Given the description of an element on the screen output the (x, y) to click on. 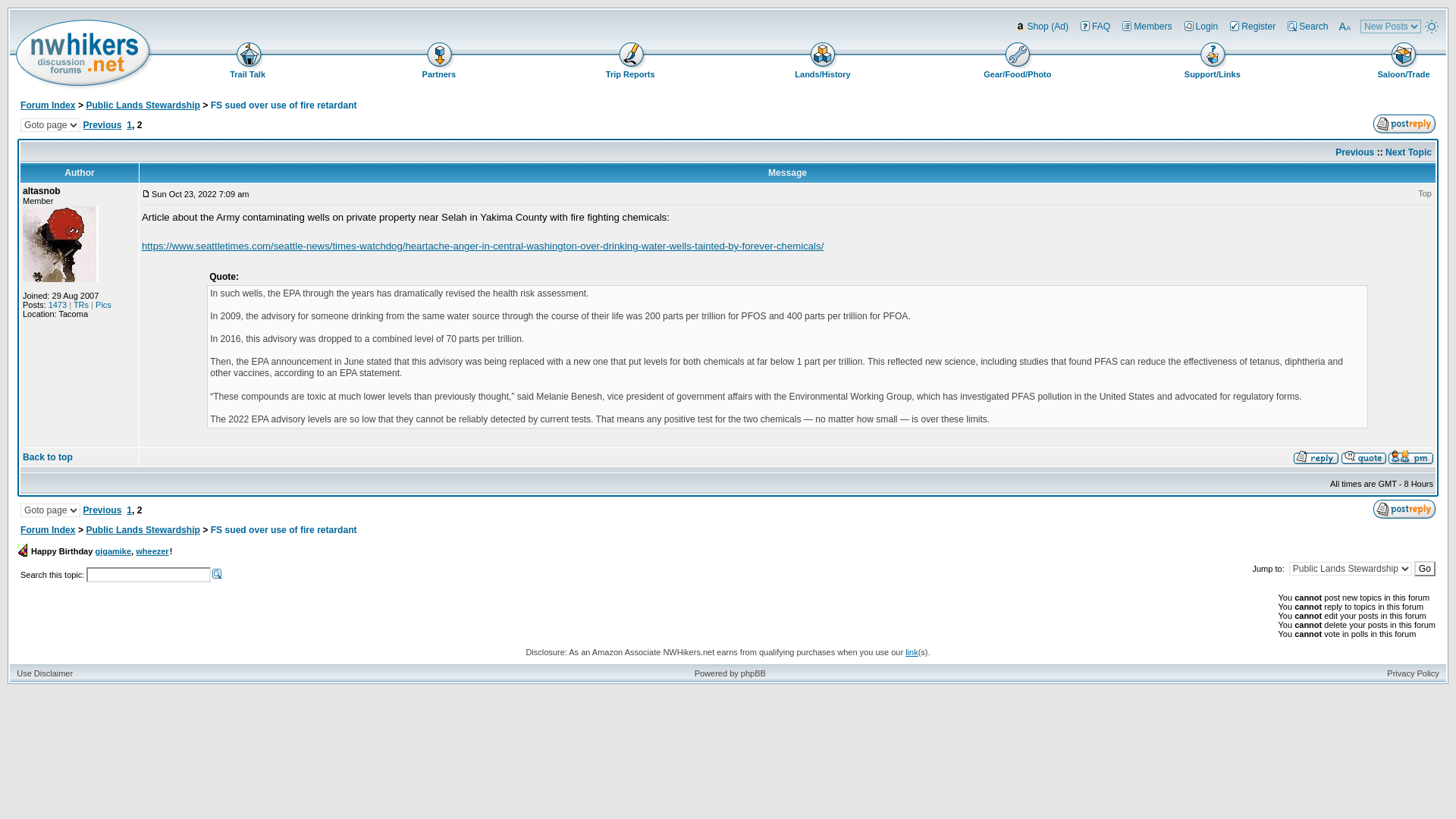
Login (1384, 4)
Public Lands Stewardship (142, 104)
Send private message (1410, 457)
Next Topic (1408, 152)
TRs (81, 304)
Trail Talk (248, 60)
Register (1251, 25)
1473 (57, 304)
Post (146, 193)
Lands (822, 60)
1 (129, 124)
Reply with quote (1363, 457)
Previous (1354, 152)
Members (1145, 25)
